Given the description of an element on the screen output the (x, y) to click on. 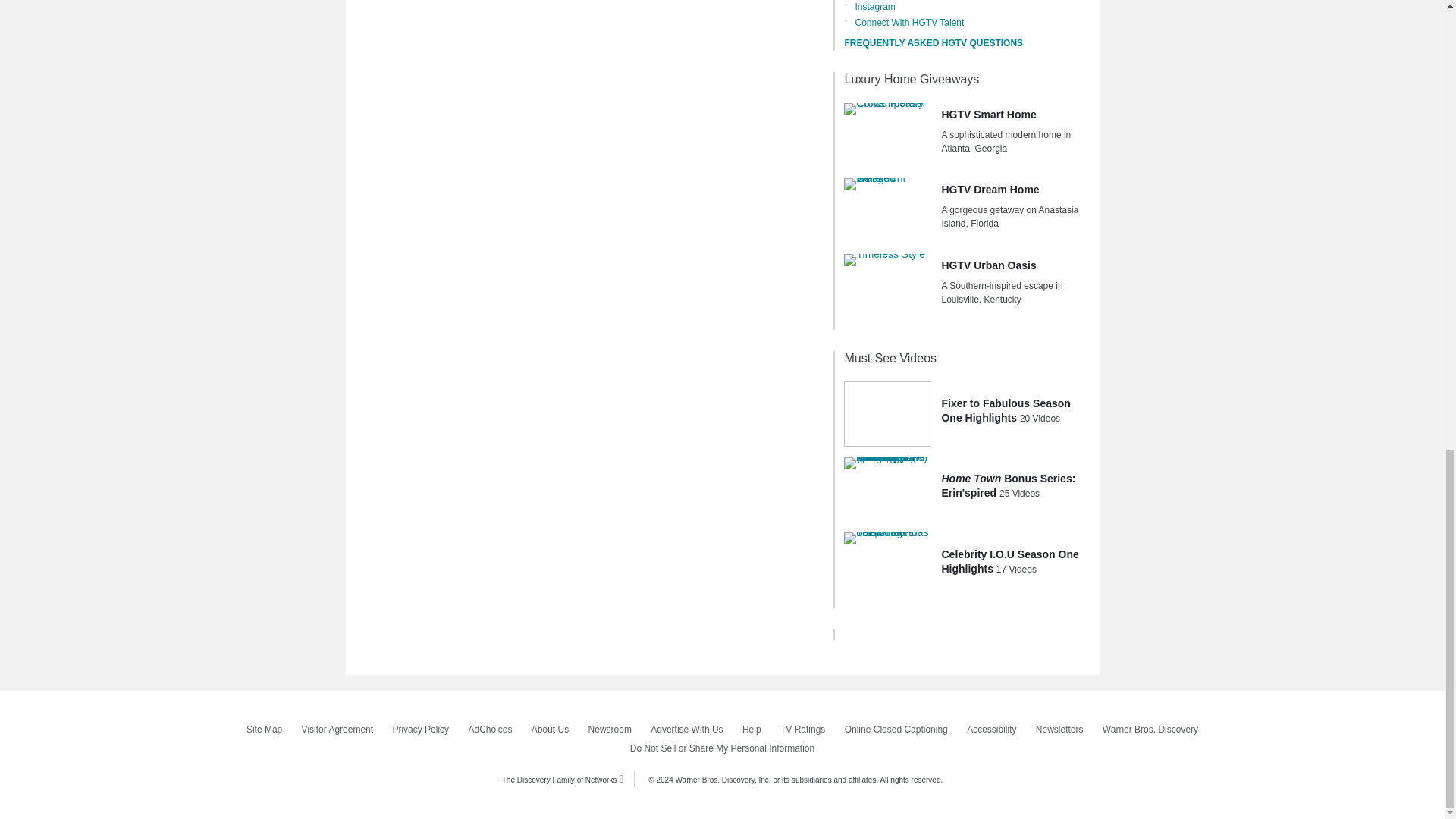
Celebrity I.O.U Season One Highlights (887, 564)
Fixer to Fabulous Season One Highlights (887, 413)
HGTV Smart Home (887, 135)
HGTV Urban Oasis (887, 286)
HGTV Dream Home (887, 210)
